Given the description of an element on the screen output the (x, y) to click on. 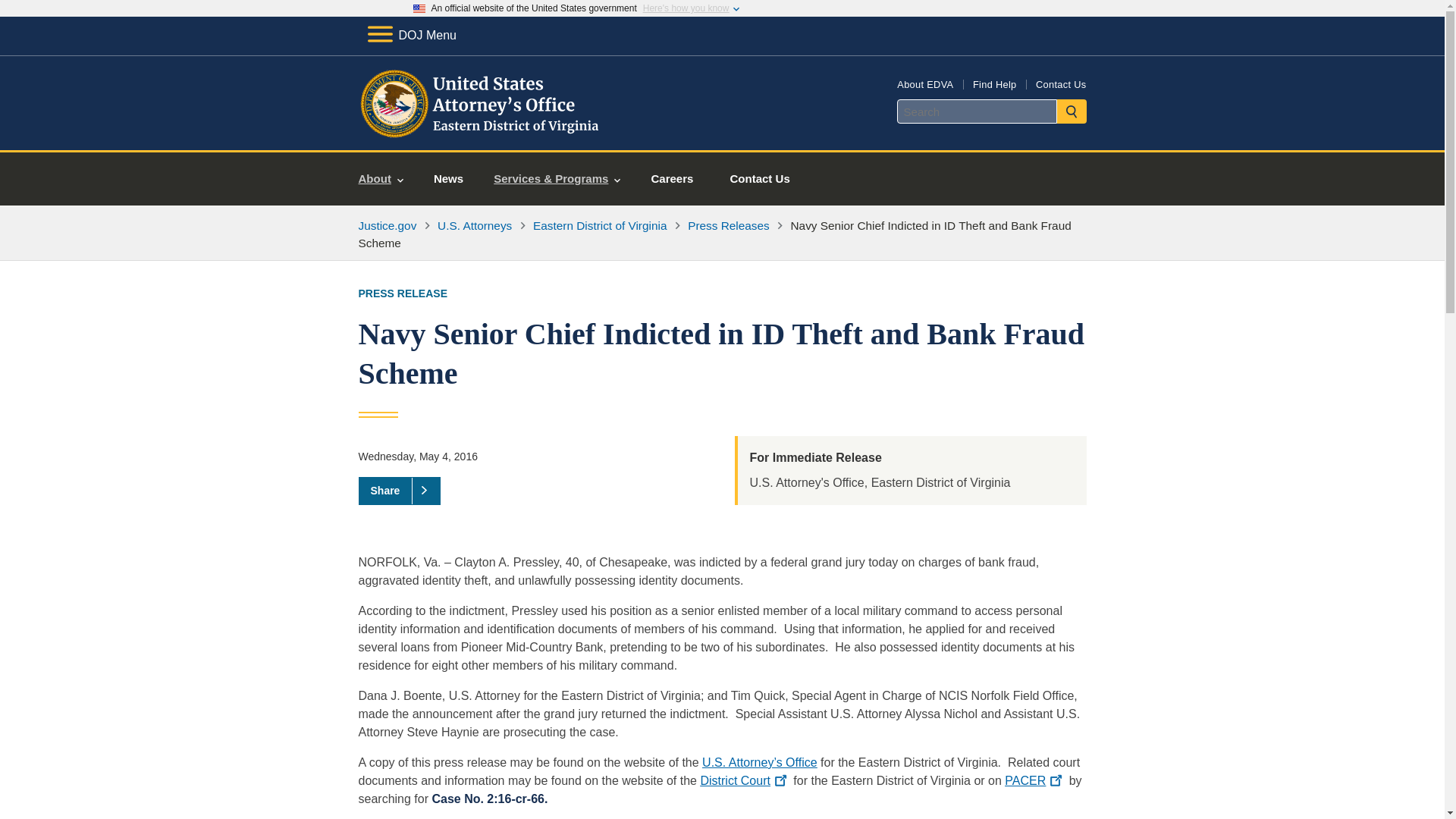
Contact Us (1060, 84)
About (380, 179)
U.S. Attorneys (475, 225)
Here's how you know (686, 8)
Share (398, 490)
About EDVA (924, 84)
Home (481, 132)
Justice.gov (387, 225)
Press Releases (728, 225)
Contact Us (759, 179)
